Given the description of an element on the screen output the (x, y) to click on. 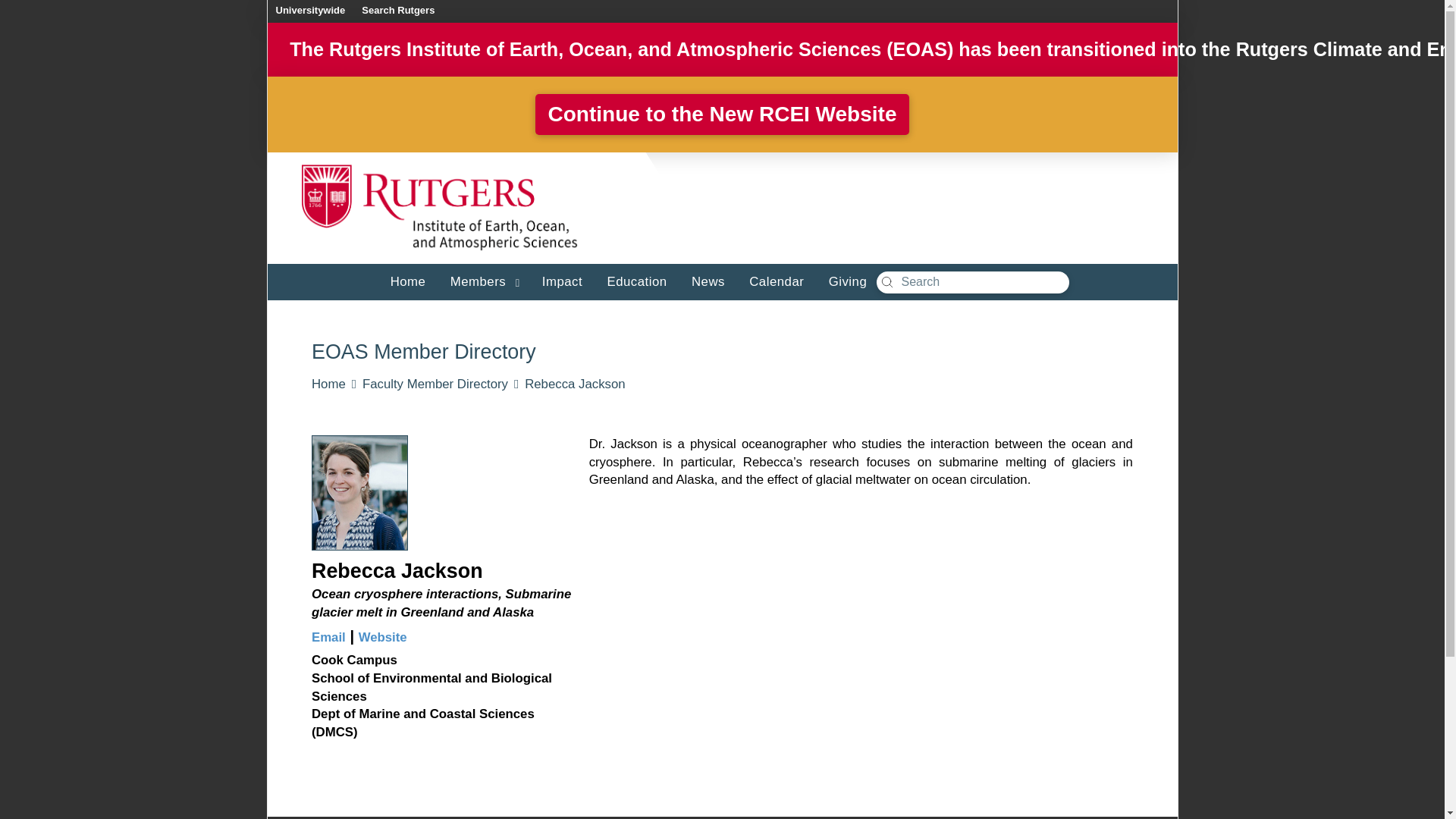
Submit (886, 282)
Faculty Member Directory (435, 384)
Members (481, 279)
Home (405, 279)
Website (382, 636)
Rebecca Jackson (574, 384)
Search Rutgers (397, 11)
Education (633, 279)
Universitywide (309, 11)
You Are Here (574, 384)
Email (328, 636)
Calendar (772, 279)
Giving (844, 279)
Impact (559, 279)
Continue to the New RCEI Website (722, 114)
